Given the description of an element on the screen output the (x, y) to click on. 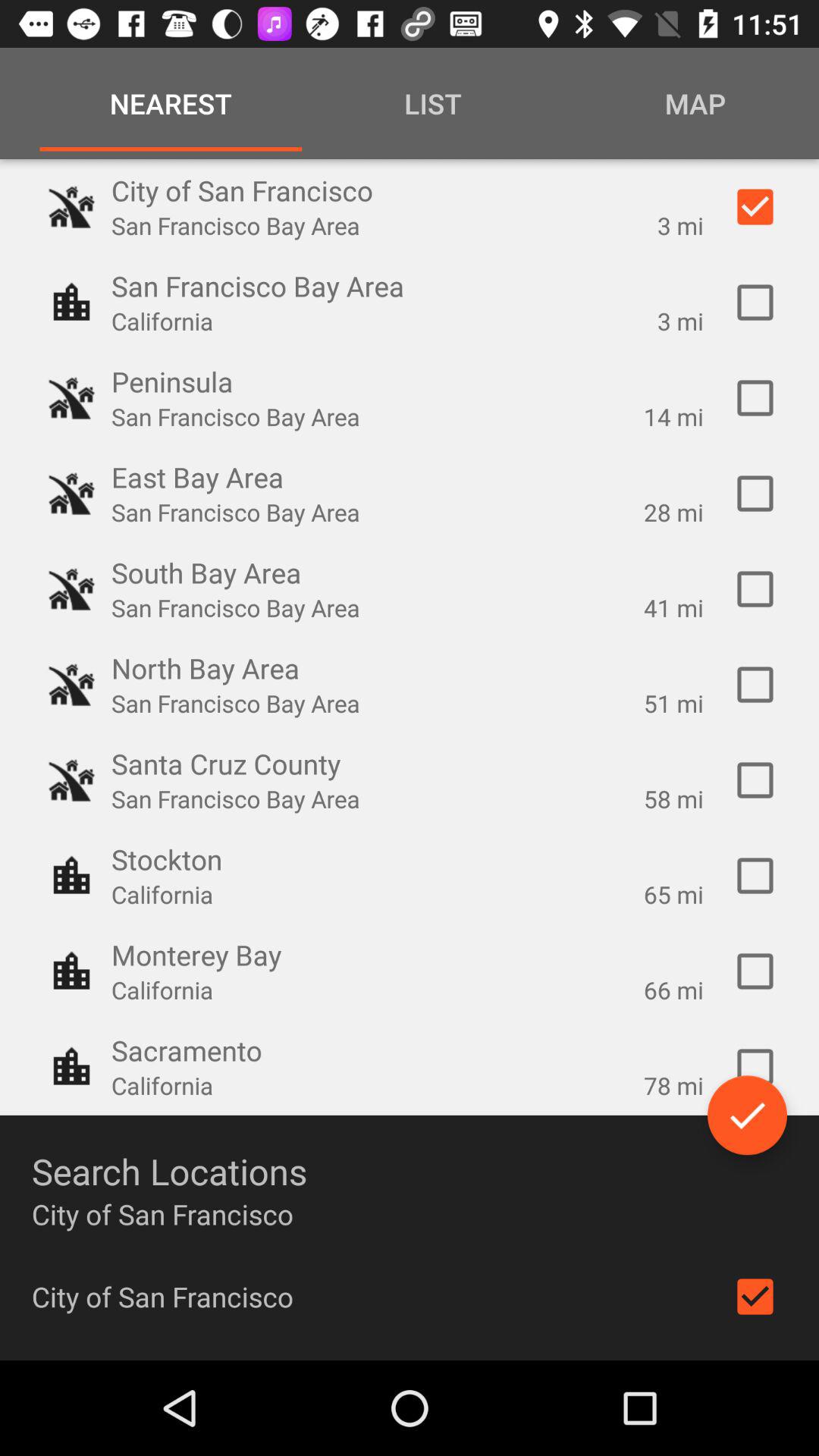
toggle city box (755, 1296)
